Given the description of an element on the screen output the (x, y) to click on. 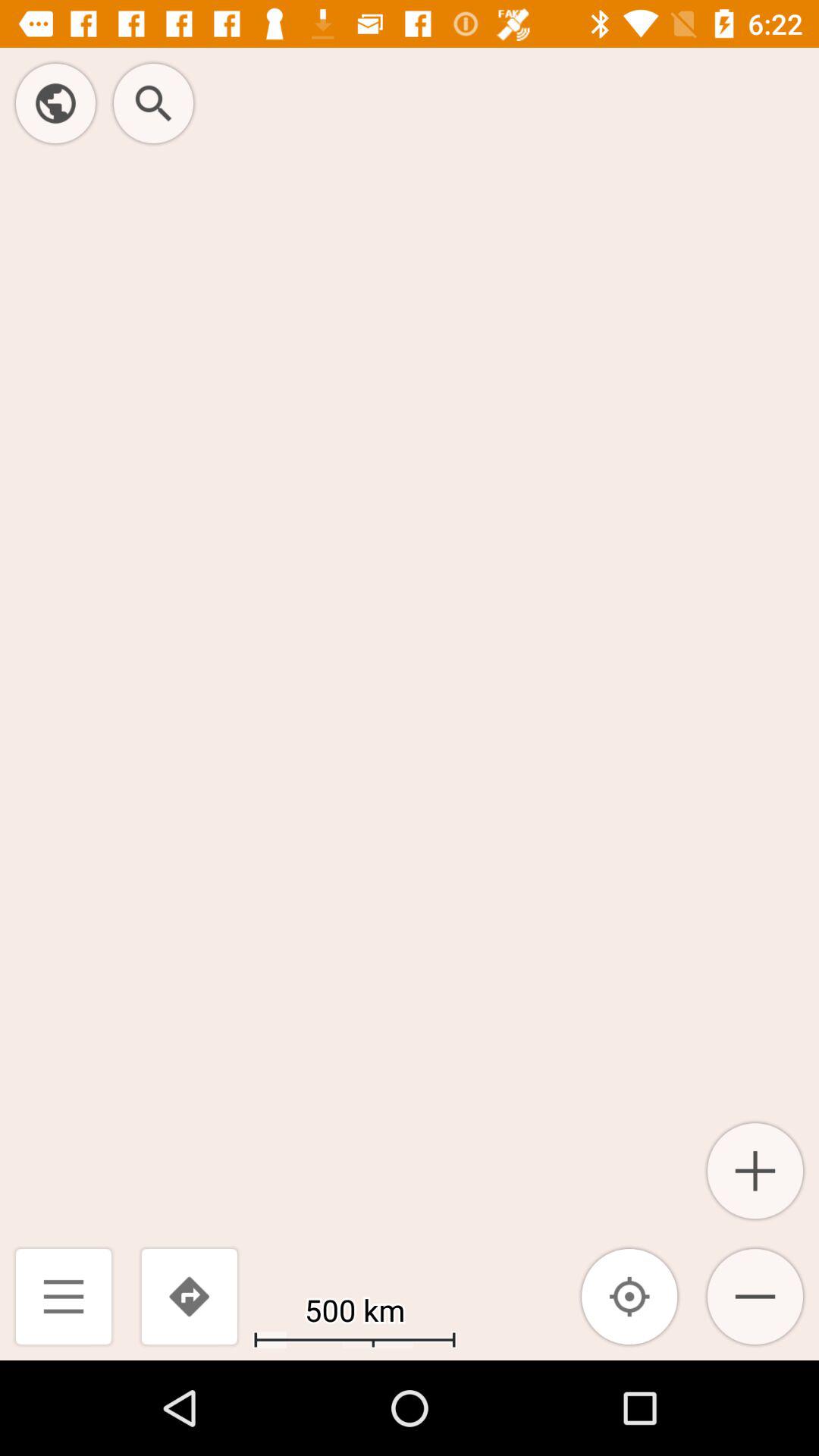
tap the item to the right of 500 km icon (629, 1296)
